Given the description of an element on the screen output the (x, y) to click on. 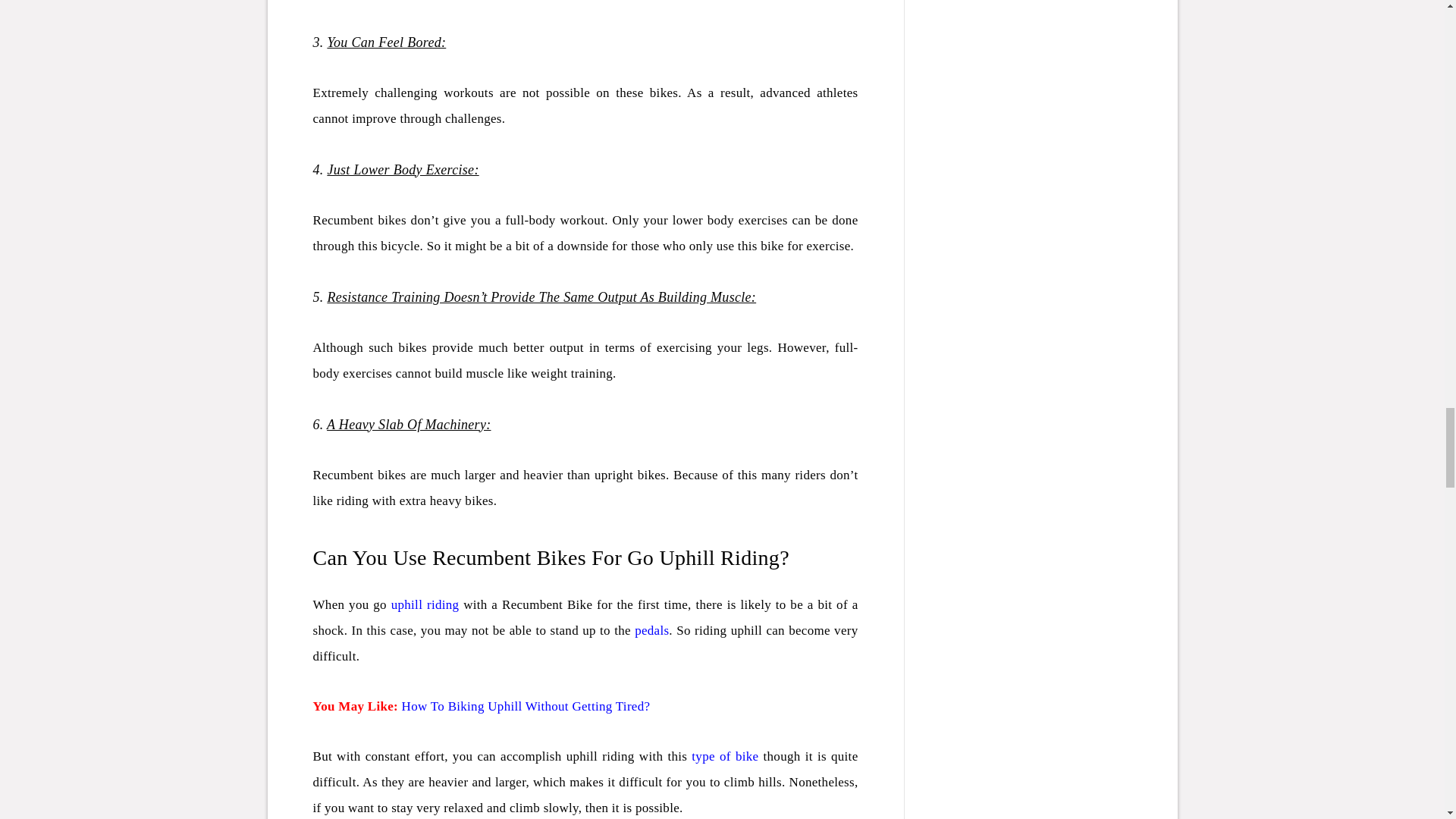
How To Biking Uphill Without Getting Tired? (525, 706)
type of bike (724, 756)
uphill riding (425, 604)
pedals (651, 630)
